Given the description of an element on the screen output the (x, y) to click on. 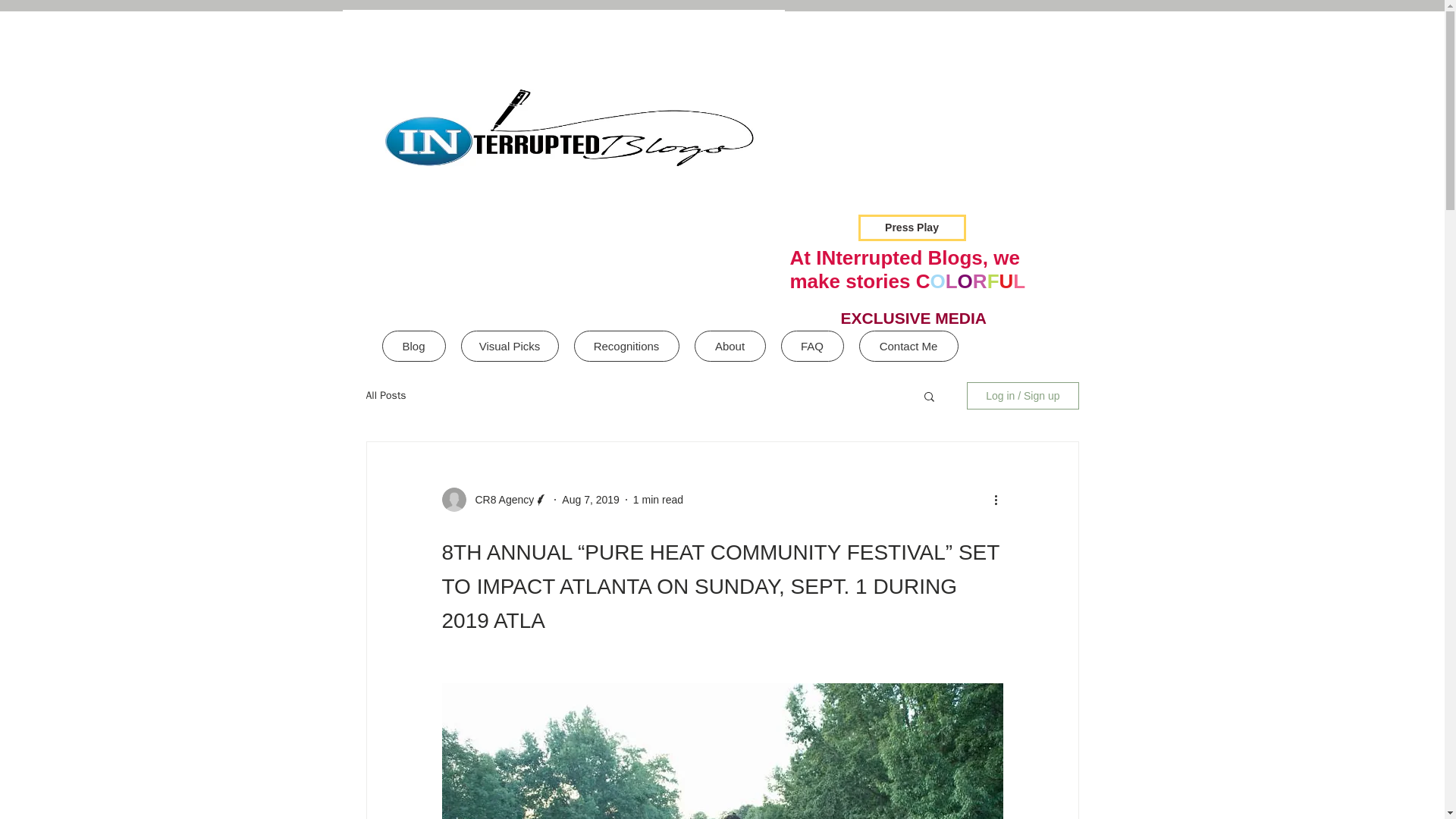
Press Play (912, 227)
About (729, 345)
1 min read (657, 499)
Recognitions (625, 345)
Aug 7, 2019 (591, 499)
Visual Picks (510, 345)
FAQ (812, 345)
All Posts (385, 395)
Contact Me (908, 345)
CR8 Agency (499, 498)
